Given the description of an element on the screen output the (x, y) to click on. 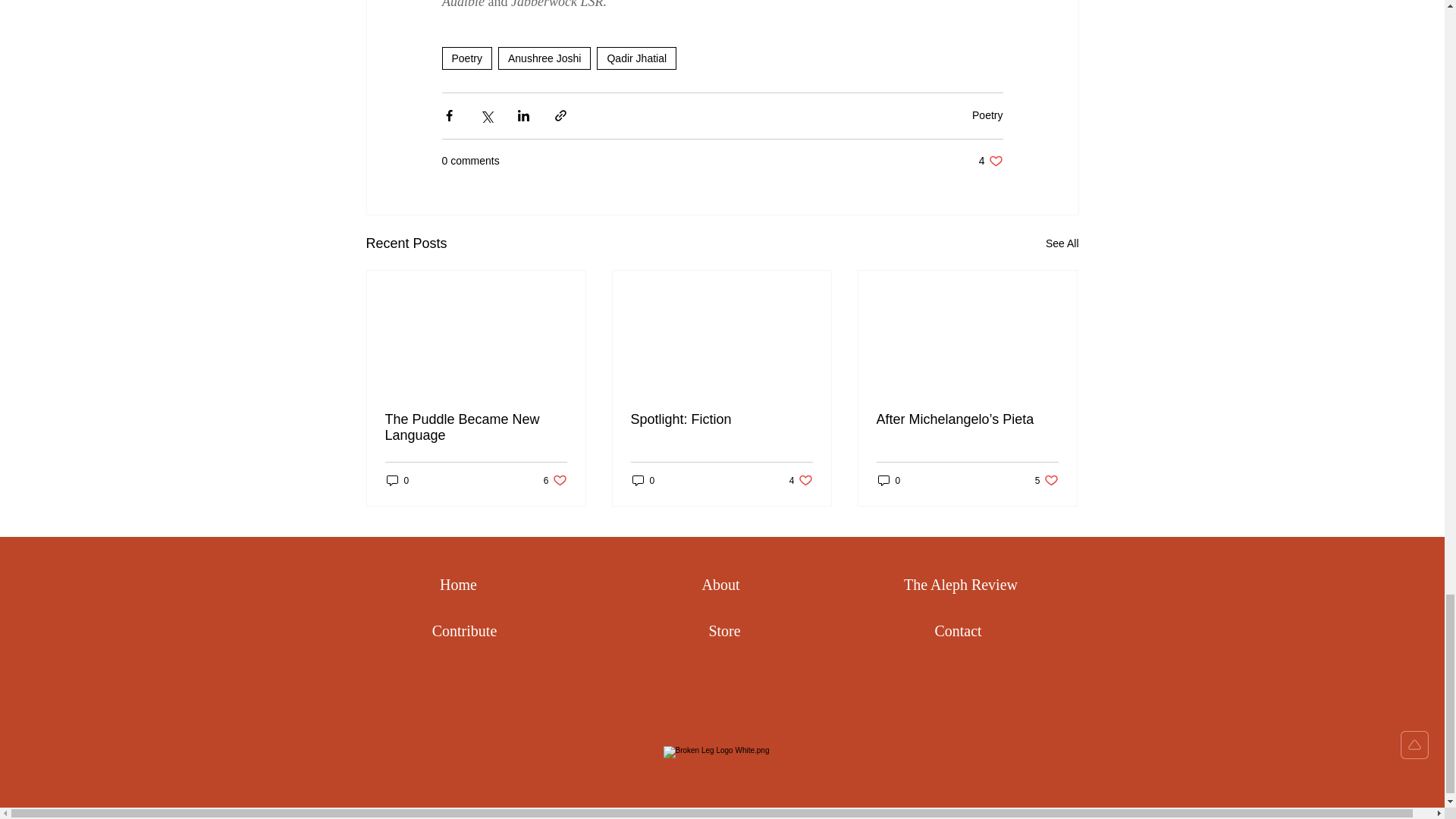
Qadir Jhatial (636, 57)
Anushree Joshi (544, 57)
0 (397, 480)
Poetry (466, 57)
Poetry (987, 114)
See All (990, 160)
The Puddle Became New Language (1061, 243)
